Given the description of an element on the screen output the (x, y) to click on. 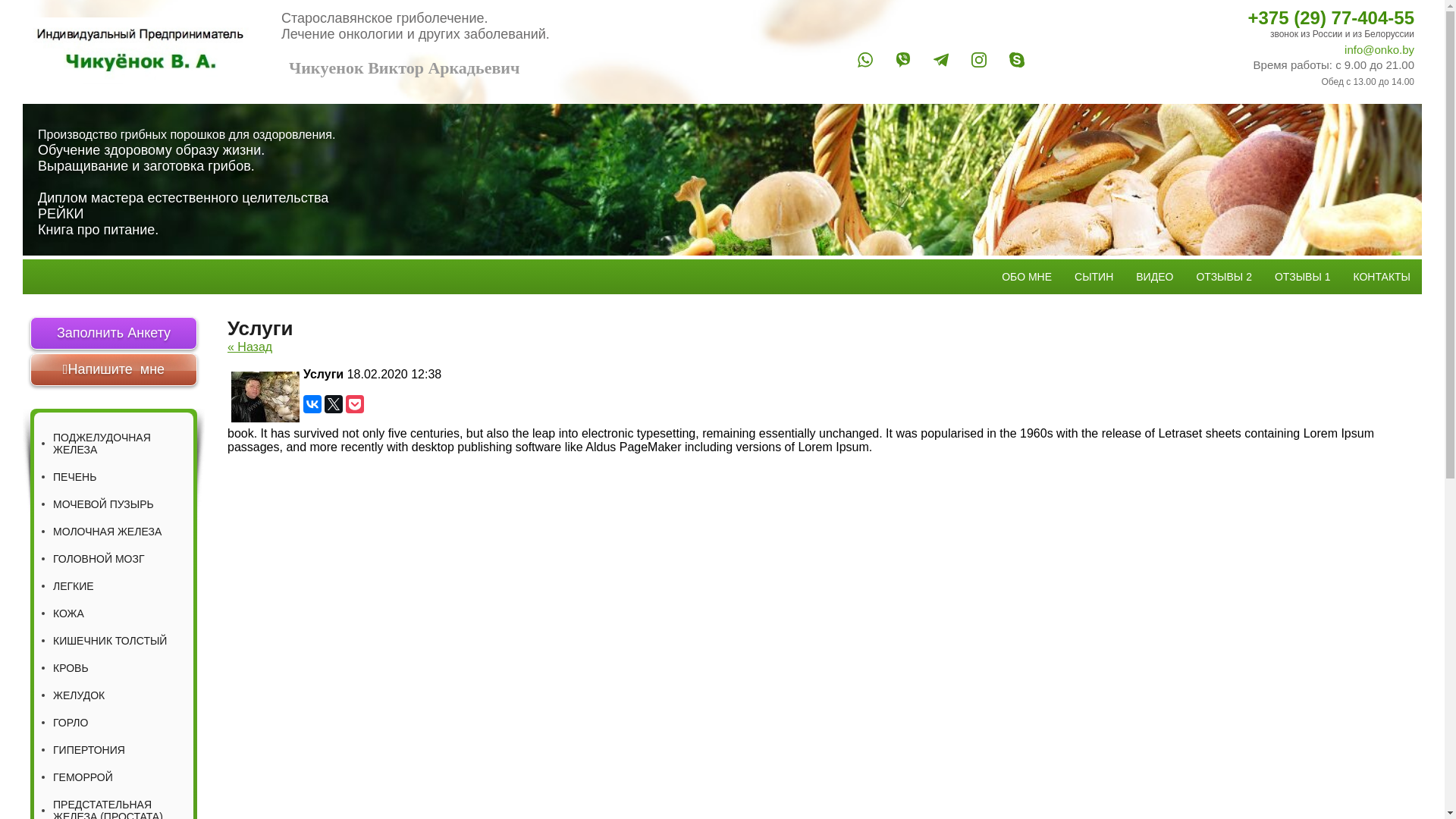
Twitter Element type: hover (333, 404)
+375 (29) 77-404-55 Element type: text (1232, 17)
info@onko.by Element type: text (1232, 49)
Pocket Element type: hover (354, 404)
